Given the description of an element on the screen output the (x, y) to click on. 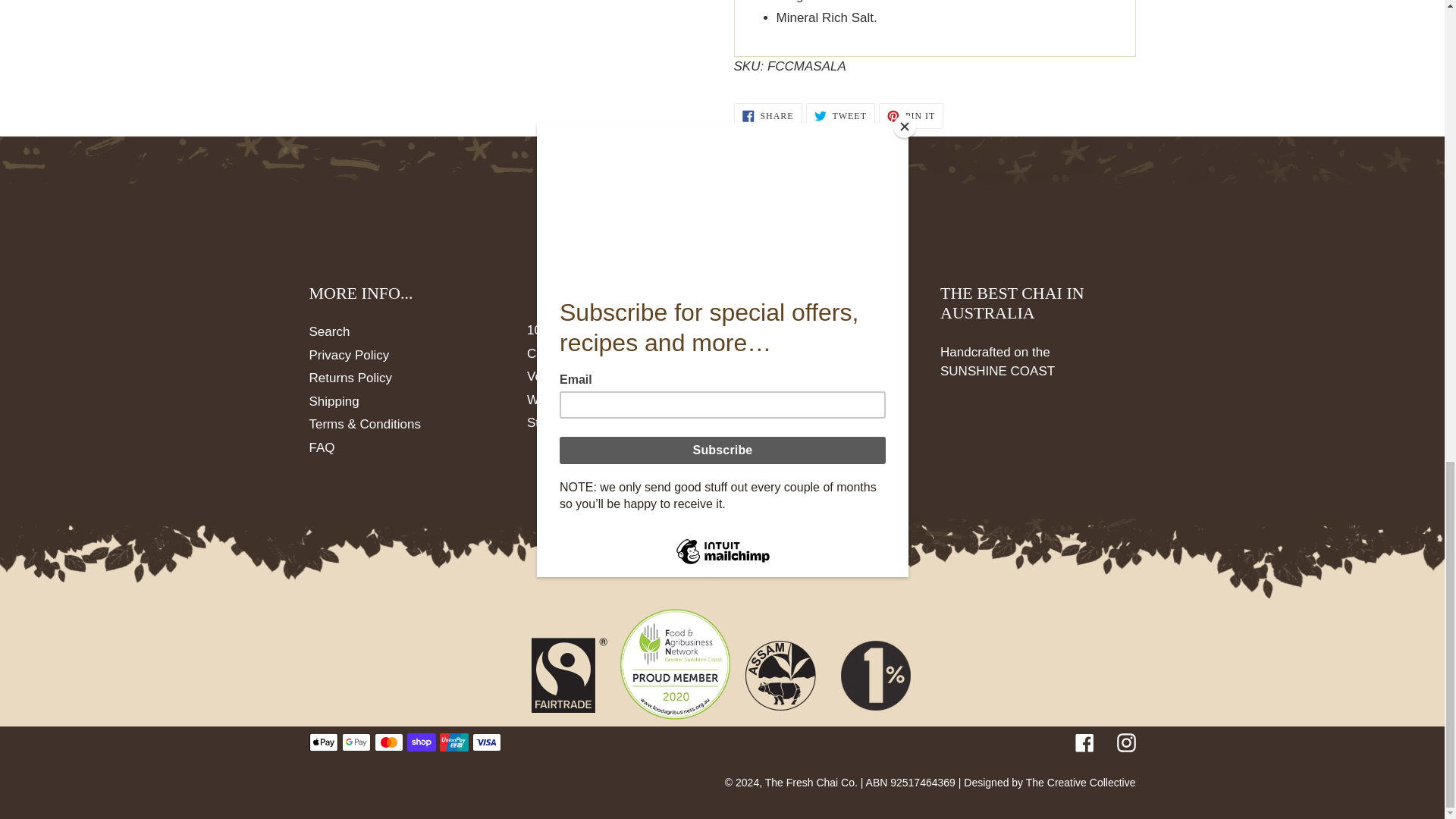
Search (329, 331)
Returns Policy (767, 115)
Privacy Policy (350, 377)
FAQ (349, 355)
Shipping (840, 115)
Caffeine Free Chai (321, 447)
